Given the description of an element on the screen output the (x, y) to click on. 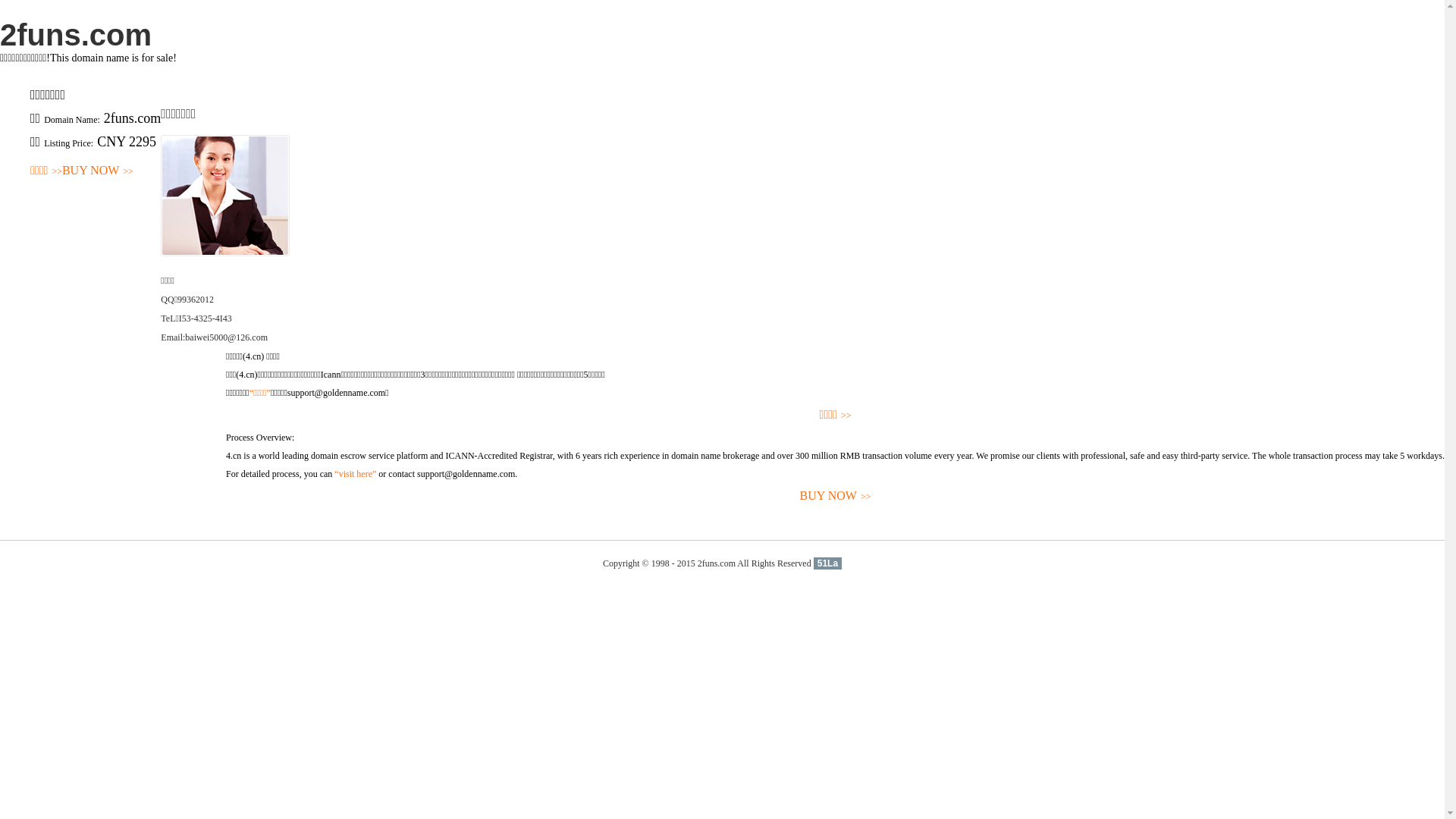
BUY NOW>> Element type: text (97, 170)
51La Element type: text (827, 563)
BUY NOW>> Element type: text (834, 496)
